Given the description of an element on the screen output the (x, y) to click on. 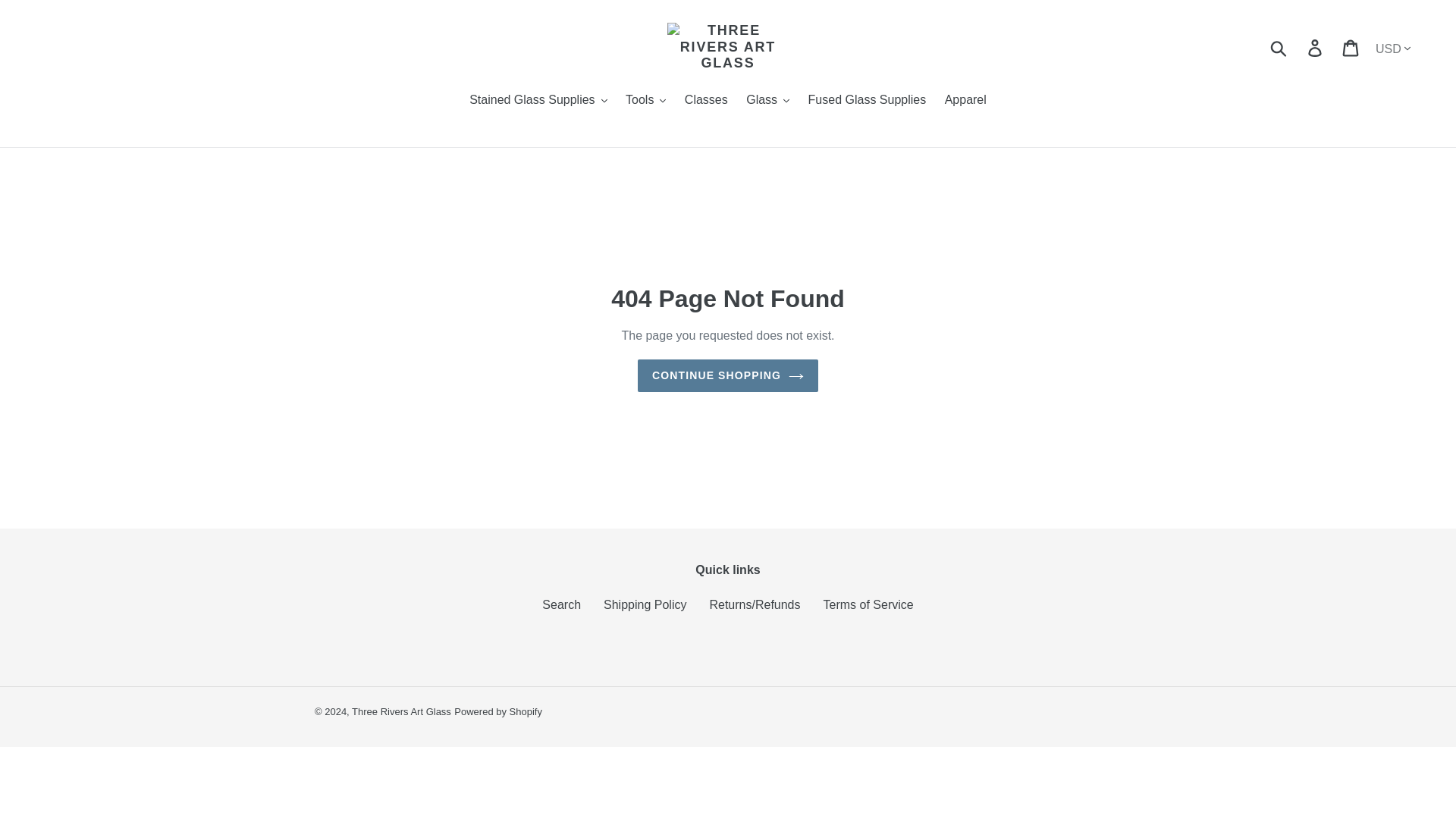
Log in (1315, 46)
Submit (1279, 46)
Cart (1351, 46)
